Given the description of an element on the screen output the (x, y) to click on. 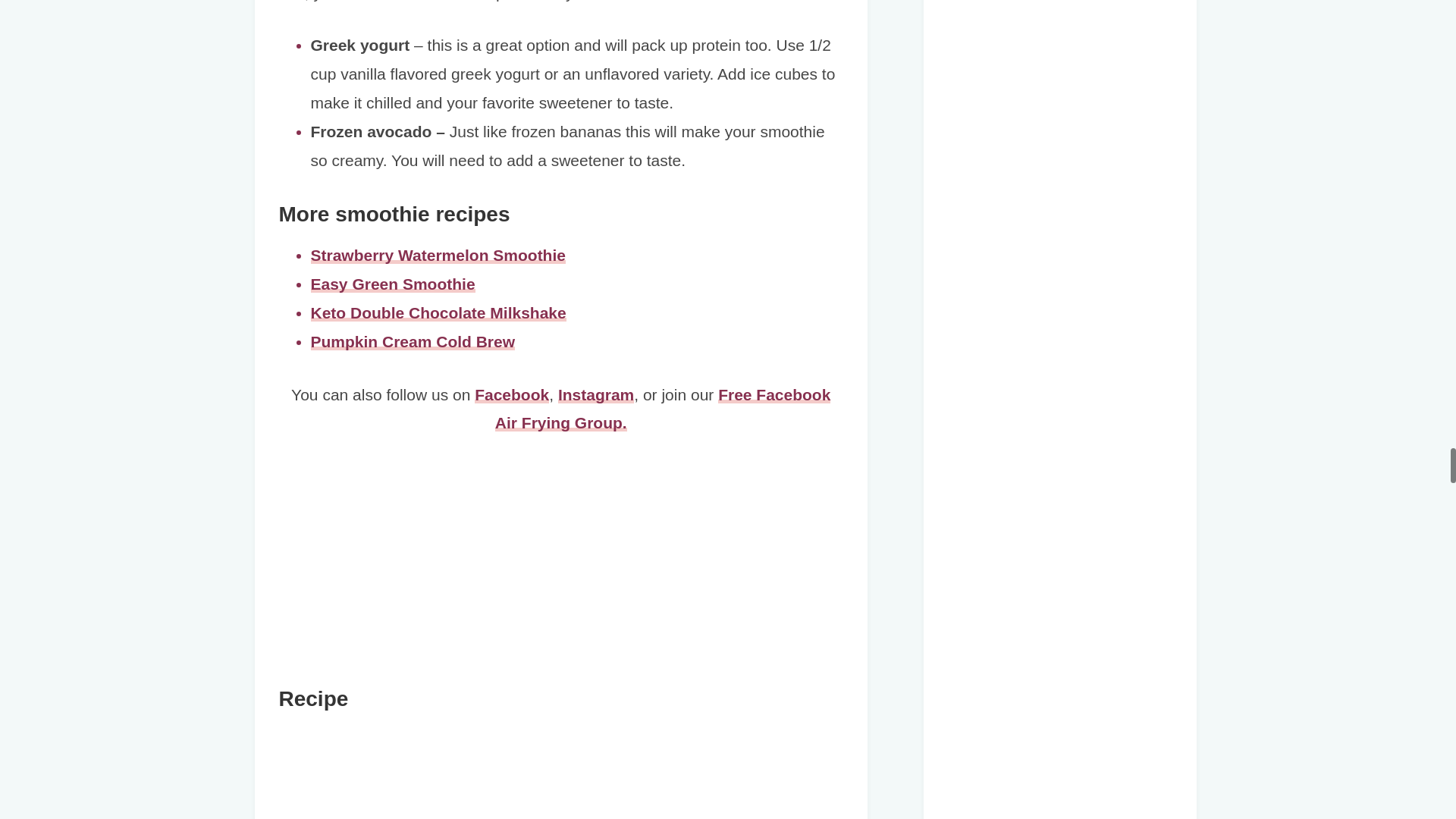
Easy Green Smoothie (393, 283)
Pumpkin Cream Cold Brew (413, 341)
Keto Double Chocolate Milkshake (438, 312)
Strawberry Watermelon Smoothie (438, 254)
Free Facebook Air Frying Group. (663, 408)
Facebook (511, 394)
Instagram (595, 394)
